Given the description of an element on the screen output the (x, y) to click on. 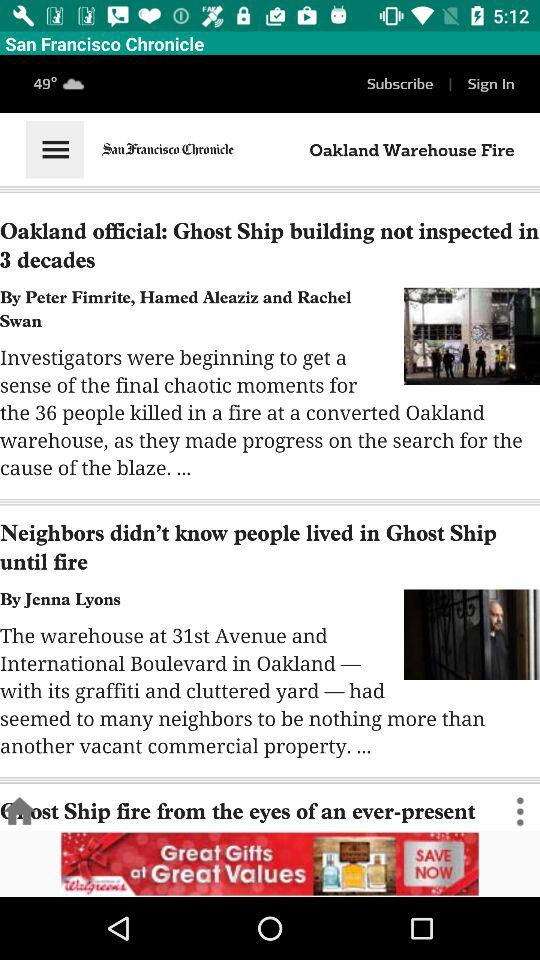
go back (19, 811)
